Given the description of an element on the screen output the (x, y) to click on. 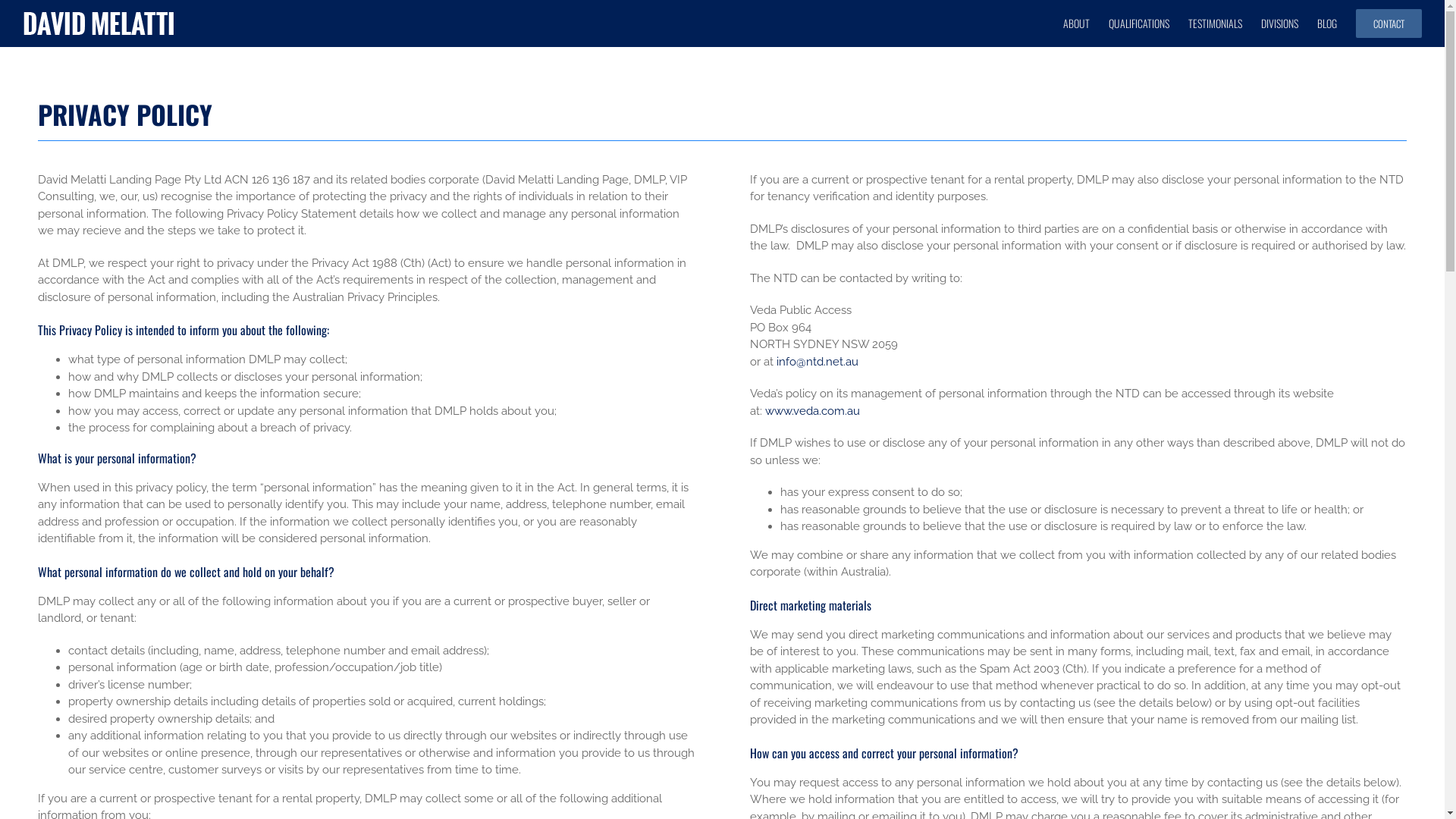
info@ntd.net.au Element type: text (817, 361)
CONTACT Element type: text (1388, 23)
BLOG Element type: text (1326, 23)
DIVISIONS Element type: text (1279, 23)
www.veda.com.au Element type: text (812, 410)
QUALIFICATIONS Element type: text (1138, 23)
TESTIMONIALS Element type: text (1215, 23)
ABOUT Element type: text (1076, 23)
